Given the description of an element on the screen output the (x, y) to click on. 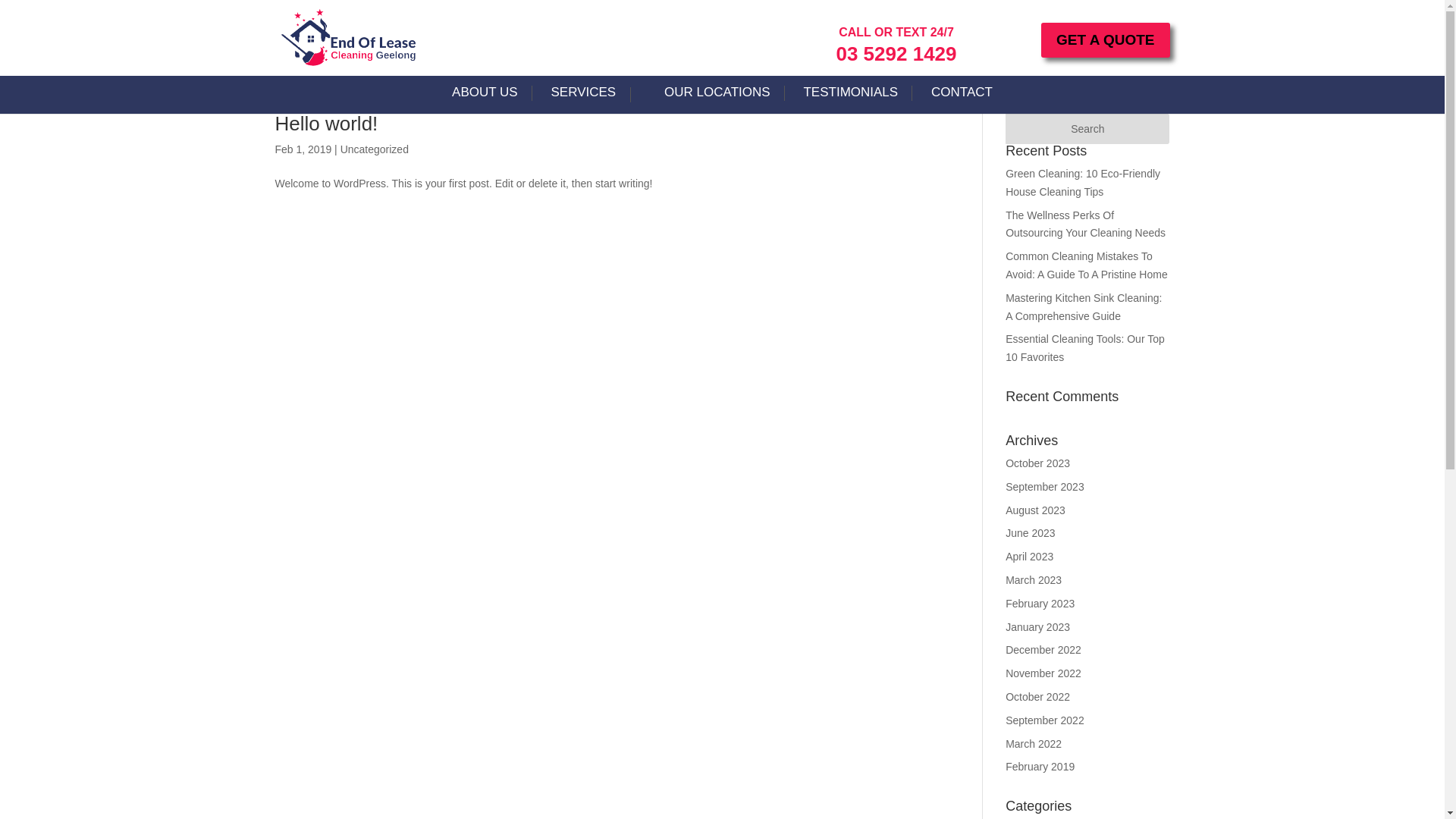
TESTIMONIALS Element type: text (850, 97)
November 2022 Element type: text (1043, 673)
Hello world! Element type: text (325, 123)
Uncategorized Element type: text (374, 149)
The Wellness Perks Of Outsourcing Your Cleaning Needs Element type: text (1085, 224)
Essential Cleaning Tools: Our Top 10 Favorites Element type: text (1084, 347)
October 2023 Element type: text (1037, 463)
October 2022 Element type: text (1037, 696)
August 2023 Element type: text (1035, 510)
March 2023 Element type: text (1033, 580)
September 2022 Element type: text (1044, 720)
GET A QUOTE Element type: text (1105, 39)
February 2019 Element type: text (1039, 766)
Search Element type: text (1087, 128)
03 5292 1429 Element type: text (895, 53)
September 2023 Element type: text (1044, 486)
Mastering Kitchen Sink Cleaning: A Comprehensive Guide Element type: text (1083, 306)
SERVICES Element type: text (591, 97)
February 2023 Element type: text (1039, 603)
March 2022 Element type: text (1033, 743)
April 2023 Element type: text (1029, 556)
January 2023 Element type: text (1037, 627)
CONTACT Element type: text (961, 97)
Green Cleaning: 10 Eco-Friendly House Cleaning Tips Element type: text (1082, 182)
ABOUT US Element type: text (484, 97)
OUR LOCATIONS Element type: text (716, 97)
June 2023 Element type: text (1029, 533)
December 2022 Element type: text (1043, 649)
